Given the description of an element on the screen output the (x, y) to click on. 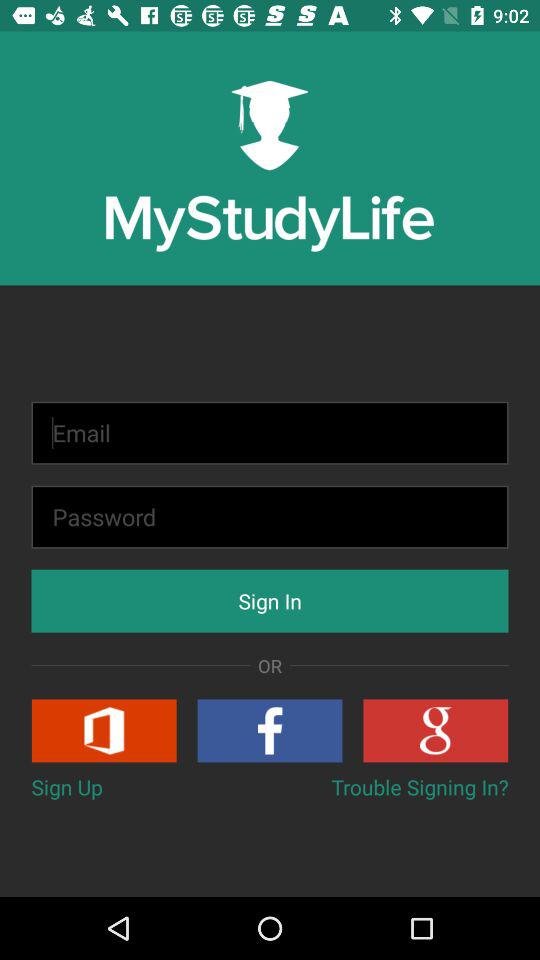
select sign up icon (66, 786)
